Given the description of an element on the screen output the (x, y) to click on. 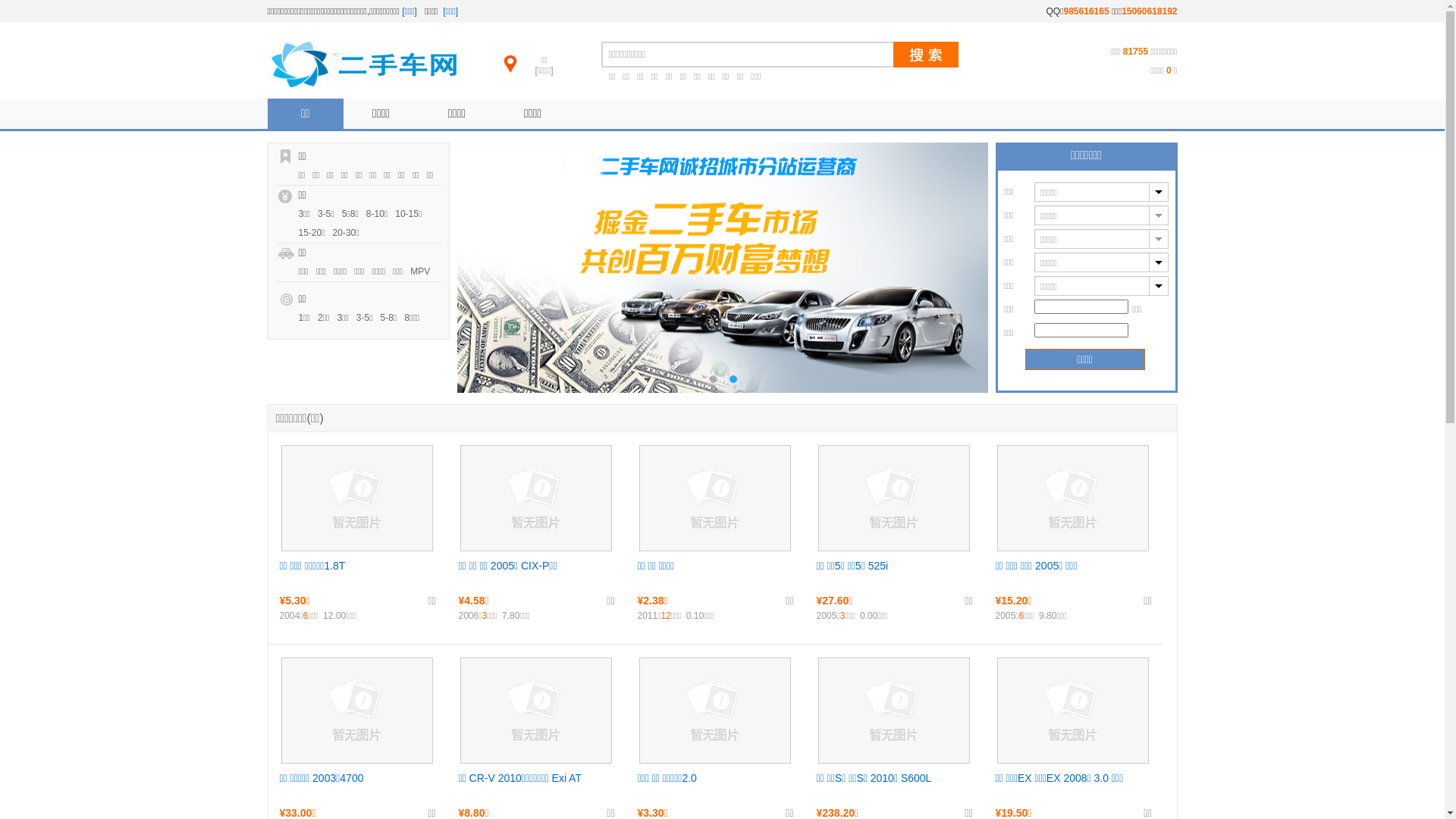
985616165 Element type: text (1086, 11)
MPV Element type: text (423, 271)
